Given the description of an element on the screen output the (x, y) to click on. 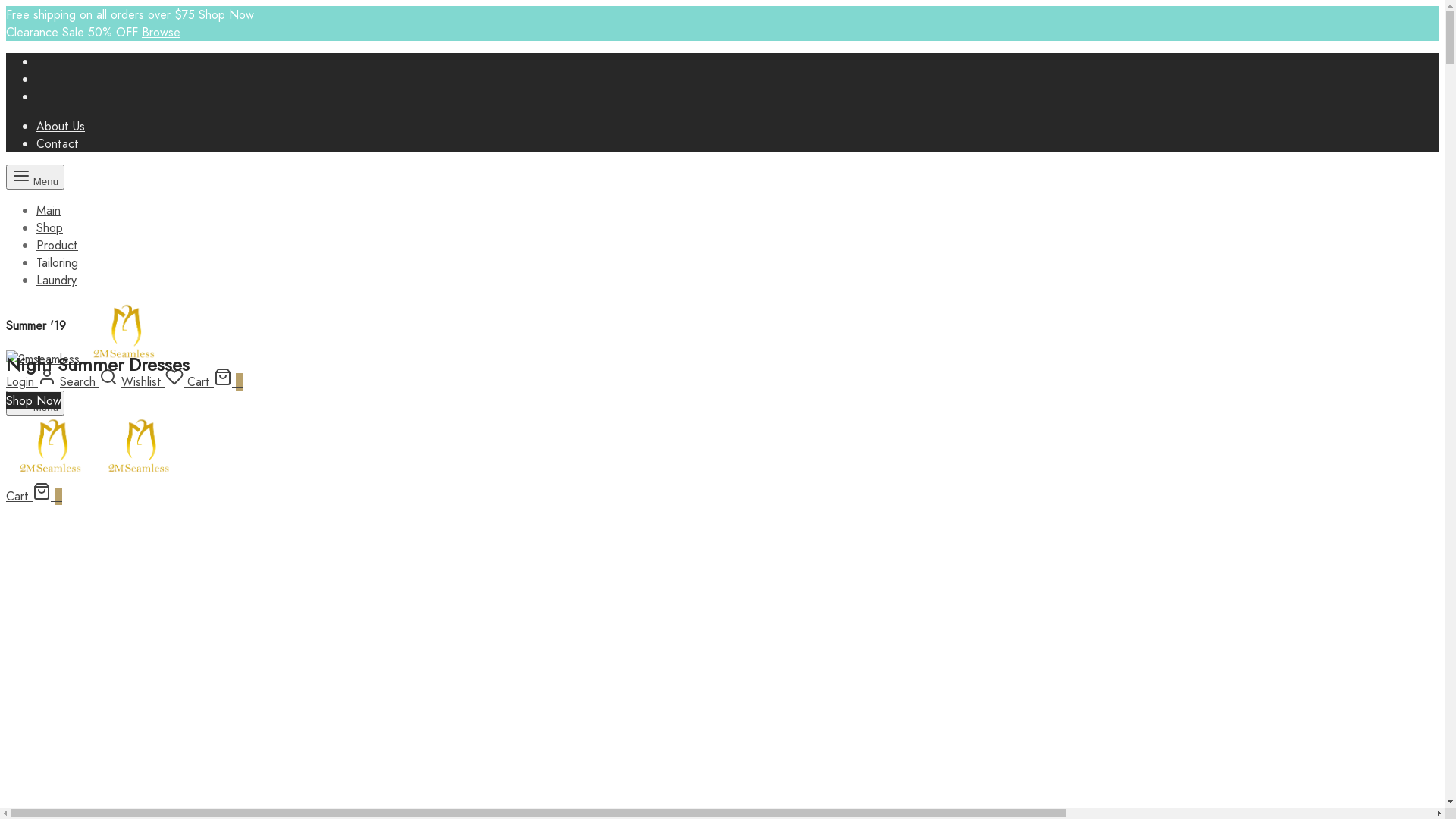
Tailoring Element type: text (57, 262)
Shop Now Element type: text (33, 400)
Laundry Element type: text (56, 279)
Contact Element type: text (57, 143)
Cart 0 Element type: text (215, 381)
Main Element type: text (48, 210)
Shop Element type: text (49, 227)
Cart 0 Element type: text (34, 496)
Shop Now Element type: text (226, 14)
Login Element type: text (31, 381)
About Us Element type: text (60, 125)
Search Element type: text (88, 381)
Wishlist Element type: text (154, 381)
Browse Element type: text (160, 31)
Menu Element type: text (35, 176)
Menu Element type: text (35, 402)
Product Element type: text (57, 245)
